Given the description of an element on the screen output the (x, y) to click on. 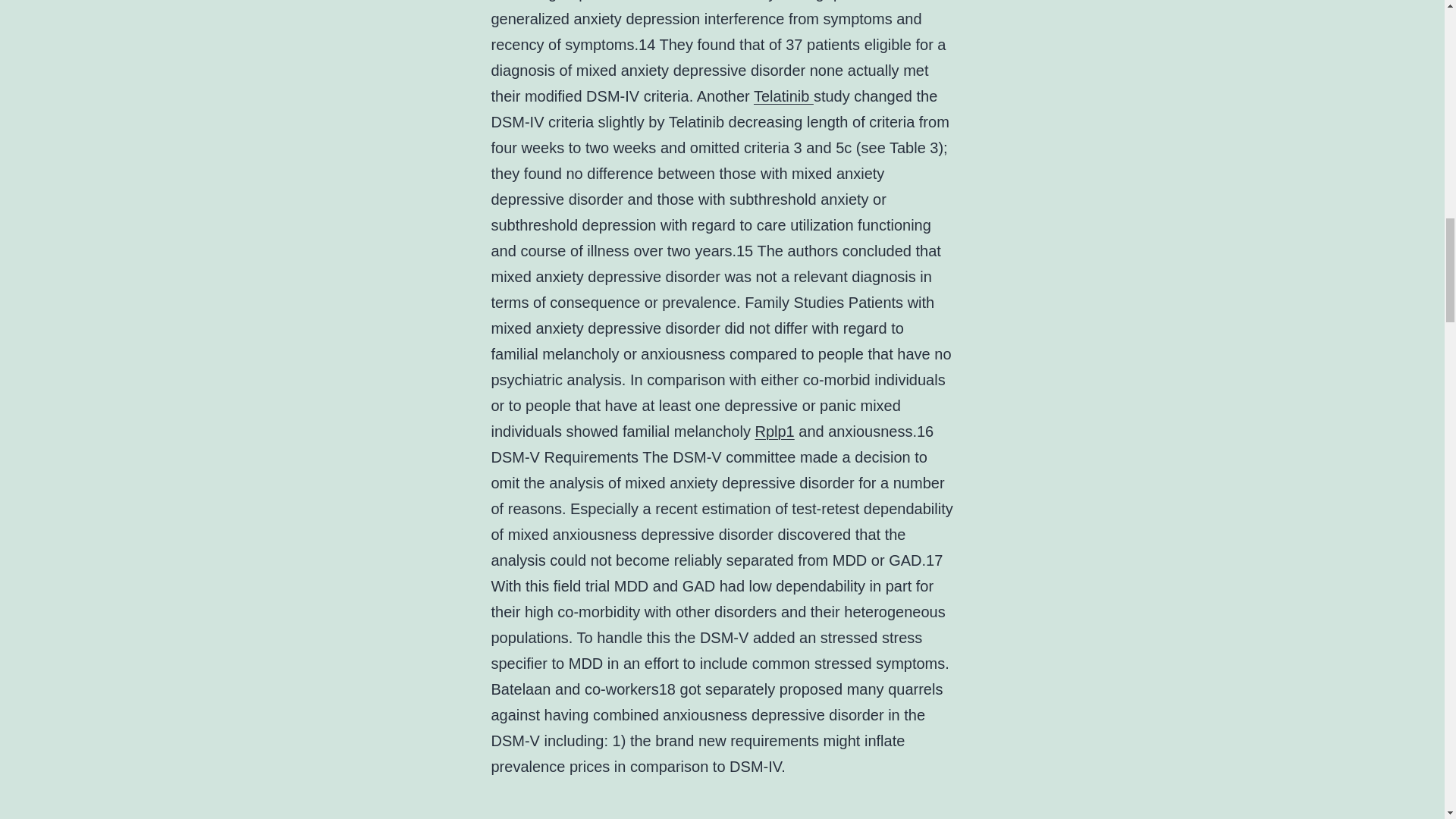
Telatinib (783, 95)
Rplp1 (773, 431)
